Given the description of an element on the screen output the (x, y) to click on. 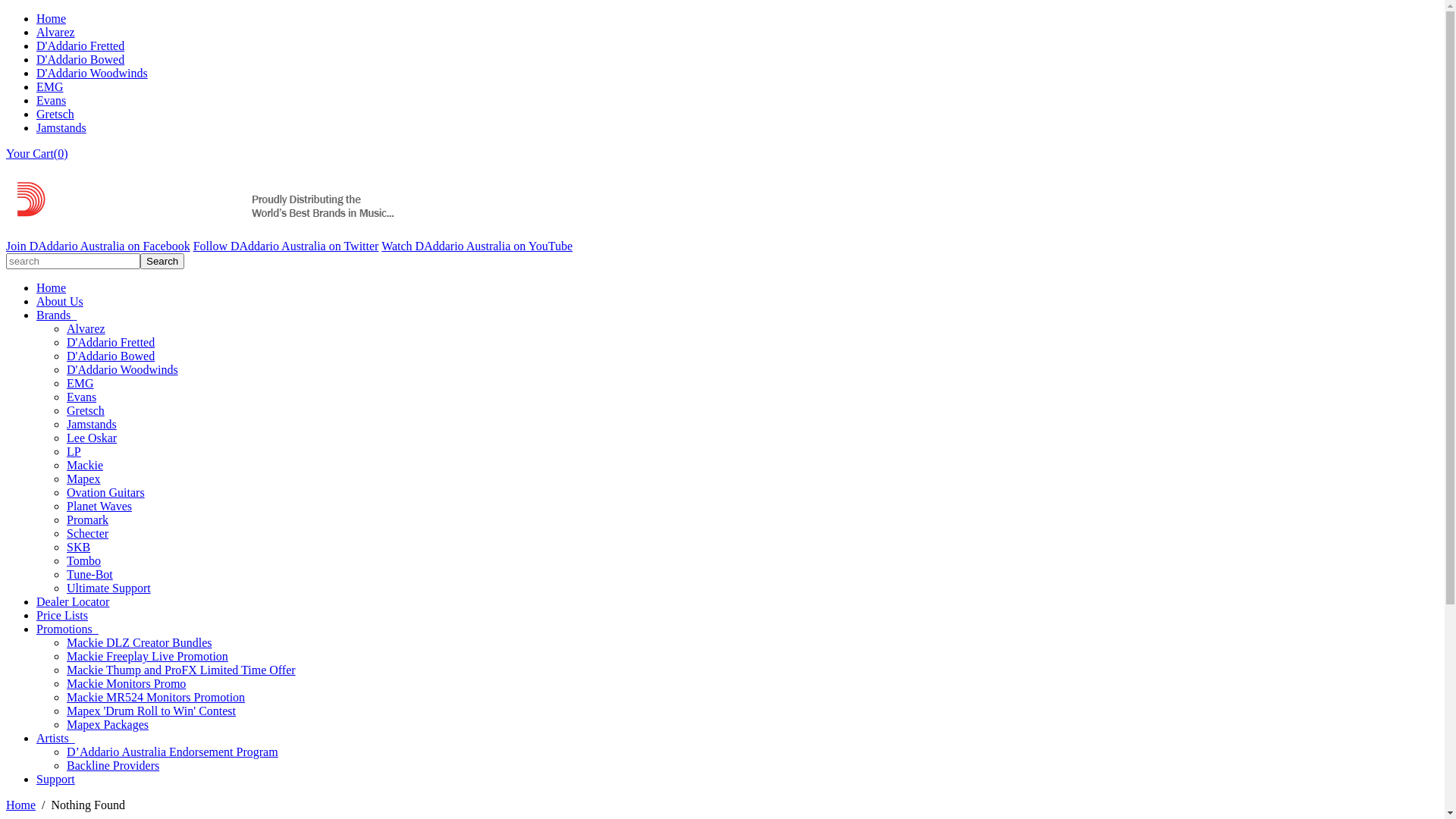
Home Element type: text (50, 287)
DAddario Australia Element type: hover (203, 231)
Home Element type: text (20, 804)
Brands   Element type: text (56, 314)
Ultimate Support Element type: text (108, 587)
D'Addario Fretted Element type: text (80, 45)
Support Element type: text (55, 778)
Mackie Thump and ProFX Limited Time Offer Element type: text (180, 669)
EMG Element type: text (80, 382)
D'Addario Woodwinds Element type: text (122, 369)
Mapex Element type: text (83, 478)
Alvarez Element type: text (85, 328)
Mackie Monitors Promo Element type: text (125, 683)
LP Element type: text (73, 451)
Evans Element type: text (50, 100)
D'Addario Fretted Element type: text (110, 341)
Backline Providers Element type: text (112, 765)
Tune-Bot Element type: text (89, 573)
About Us Element type: text (59, 300)
Mackie Element type: text (84, 464)
Evans Element type: text (81, 396)
SKB Element type: text (78, 546)
Watch DAddario Australia on YouTube Element type: text (476, 245)
Promark Element type: text (87, 519)
D'Addario Bowed Element type: text (110, 355)
Mackie Freeplay Live Promotion Element type: text (147, 655)
Price Lists Element type: text (61, 614)
Promotions   Element type: text (67, 628)
Jamstands Element type: text (91, 423)
Join DAddario Australia on Facebook Element type: text (98, 245)
Mapex 'Drum Roll to Win' Contest Element type: text (150, 710)
Gretsch Element type: text (85, 410)
Your Cart(0) Element type: text (36, 153)
Search Element type: text (162, 261)
Gretsch Element type: text (55, 113)
Artists   Element type: text (55, 737)
Mackie DLZ Creator Bundles Element type: text (139, 642)
Schecter Element type: text (87, 533)
Alvarez Element type: text (55, 31)
Dealer Locator Element type: text (72, 601)
Mackie MR524 Monitors Promotion Element type: text (155, 696)
Jamstands Element type: text (61, 127)
D'Addario Woodwinds Element type: text (91, 72)
Planet Waves Element type: text (98, 505)
Lee Oskar Element type: text (91, 437)
Home Element type: text (50, 18)
Follow DAddario Australia on Twitter Element type: text (286, 245)
EMG Element type: text (49, 86)
Tombo Element type: text (83, 560)
Mapex Packages Element type: text (107, 724)
D'Addario Bowed Element type: text (80, 59)
Ovation Guitars Element type: text (105, 492)
